Given the description of an element on the screen output the (x, y) to click on. 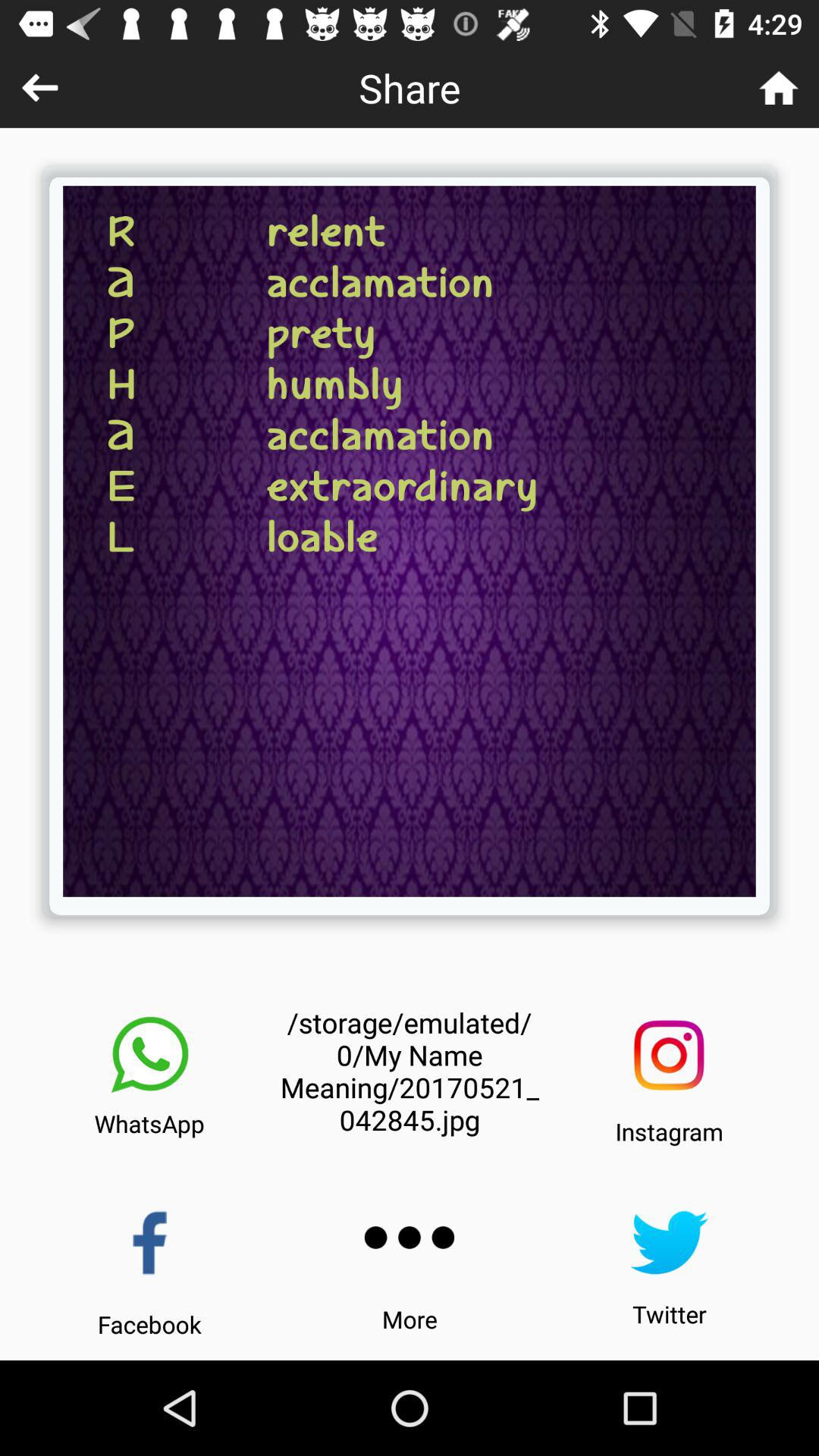
twitter (669, 1242)
